Given the description of an element on the screen output the (x, y) to click on. 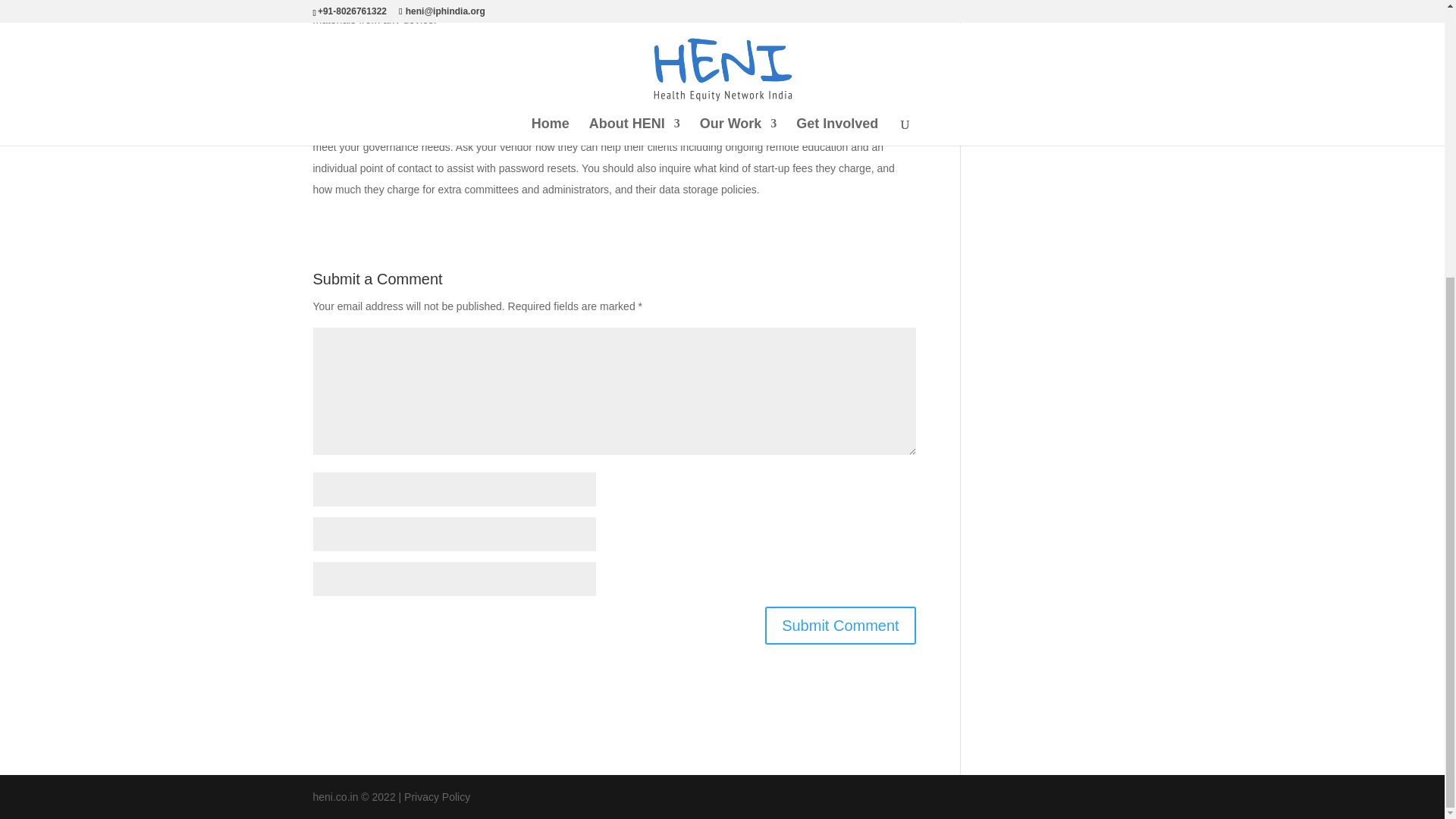
Submit Comment (840, 625)
Recent updates (1021, 137)
Further Readings (1024, 36)
Submit Comment (840, 625)
Forum (998, 9)
General Discussion (1029, 62)
